Given the description of an element on the screen output the (x, y) to click on. 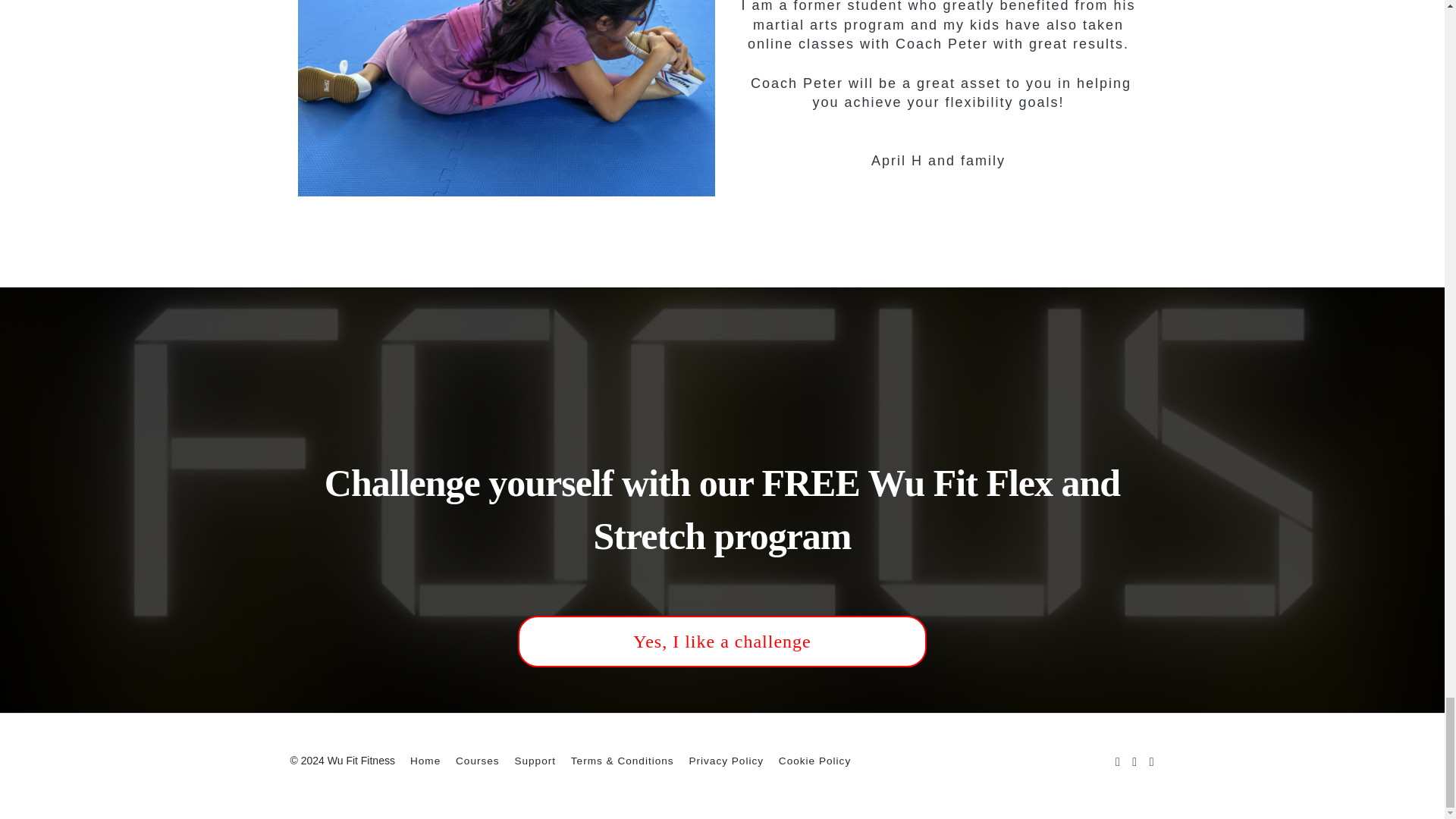
Privacy Policy (725, 760)
Courses (477, 760)
Cookie Policy (814, 760)
Support (534, 760)
Home (425, 760)
Yes, I like a challenge (722, 641)
